Given the description of an element on the screen output the (x, y) to click on. 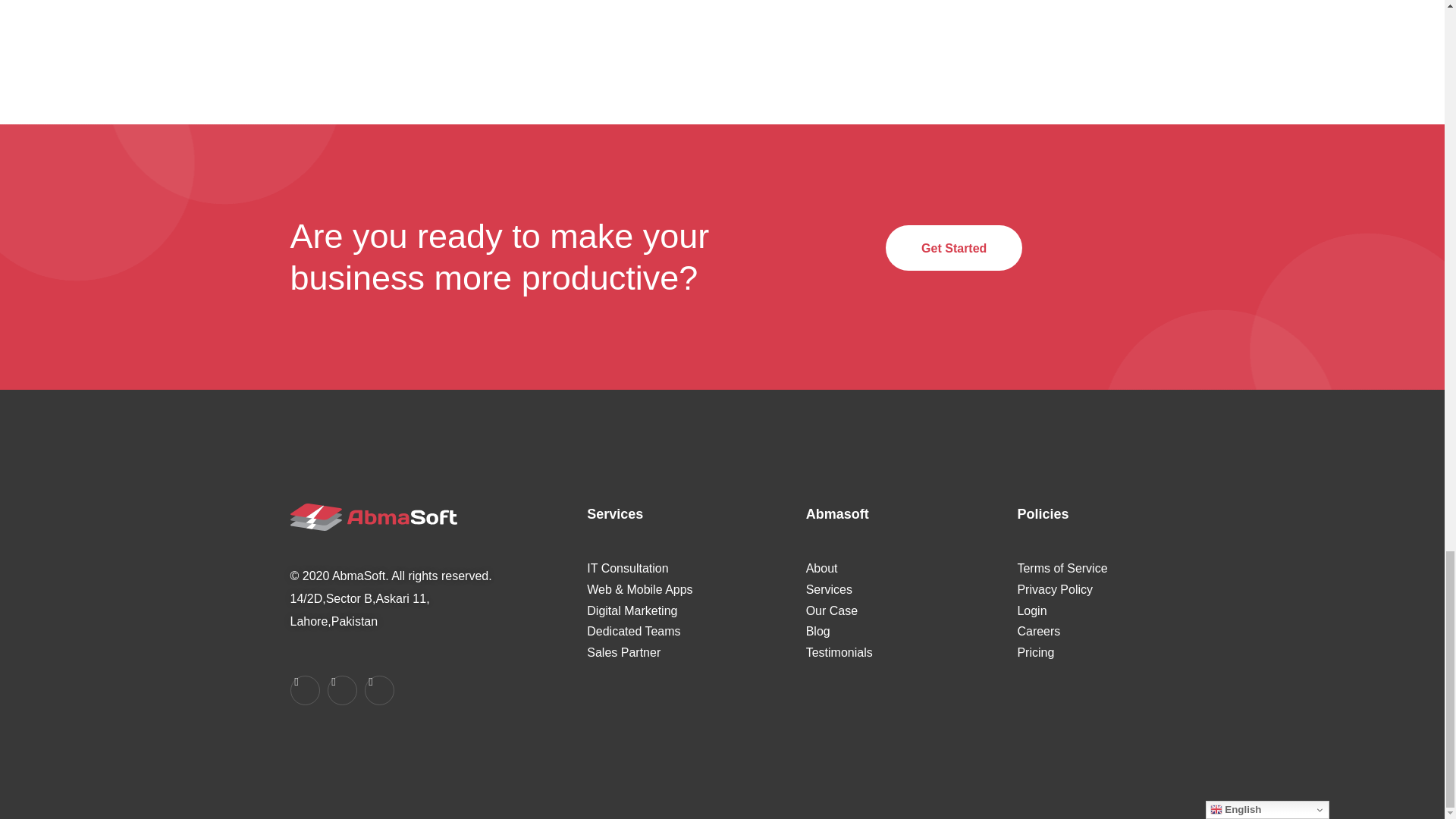
Get Started (953, 248)
